Given the description of an element on the screen output the (x, y) to click on. 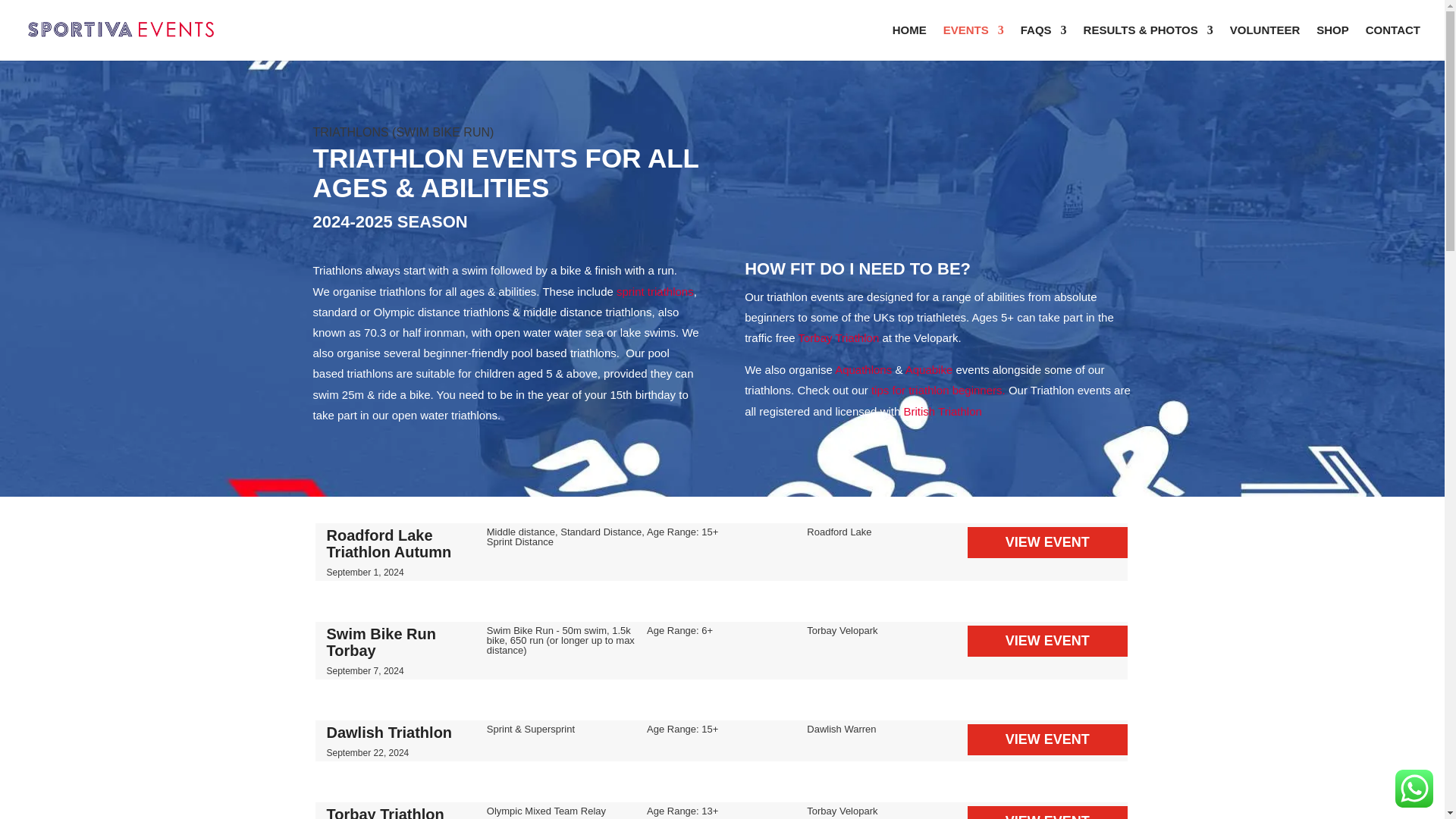
FAQS (1043, 42)
CONTACT (1393, 42)
VOLUNTEER (1265, 42)
HOME (909, 42)
SHOP (1332, 42)
EVENTS (973, 42)
